Given the description of an element on the screen output the (x, y) to click on. 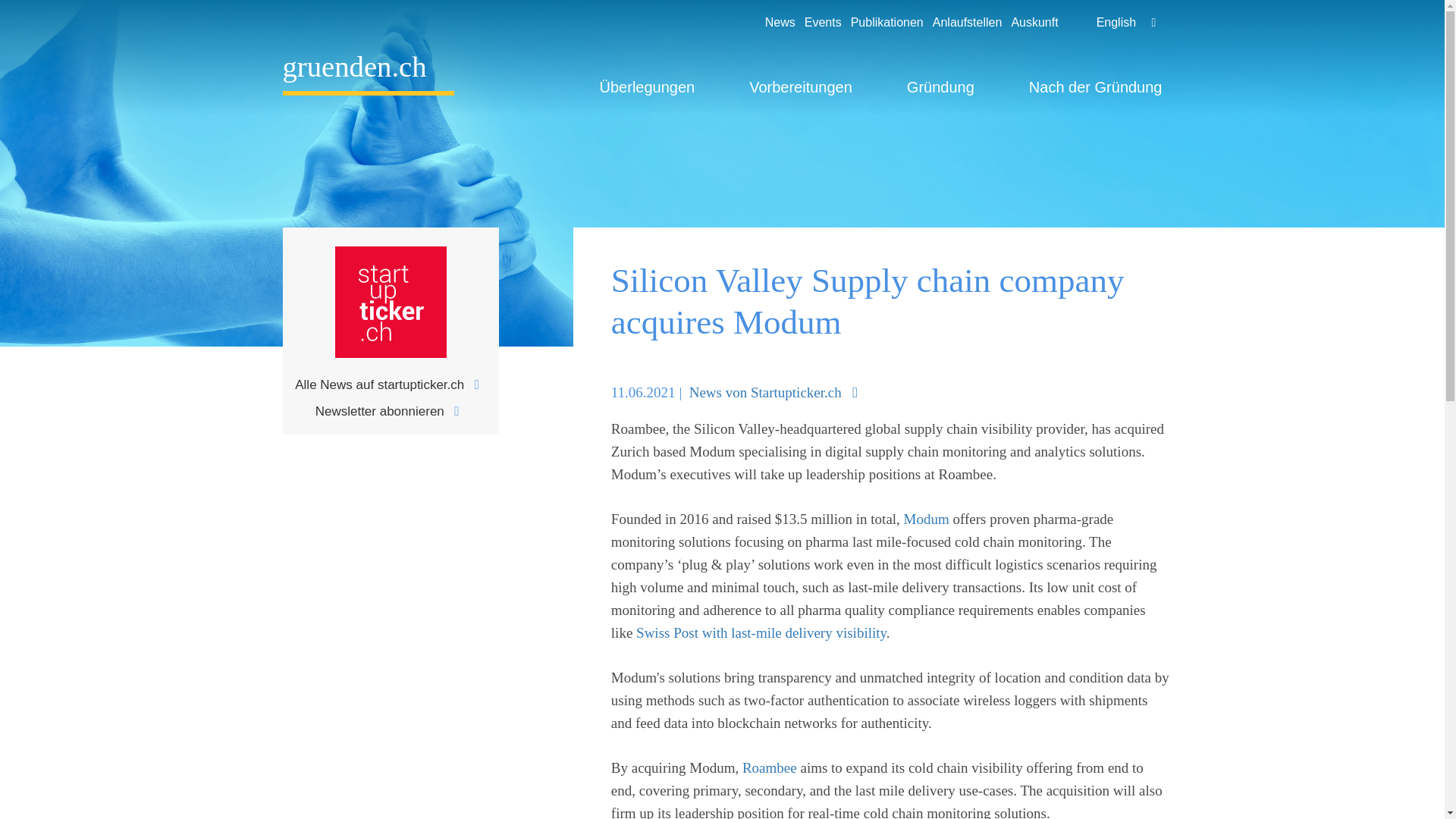
Events (817, 22)
Gruenden (367, 73)
Anlaufstellen (963, 22)
Alle News auf startupticker.ch (390, 384)
English (1096, 22)
gruenden.ch (367, 73)
Publikationen (882, 22)
Auskunft (1029, 22)
English Version (1096, 22)
Publikationen (882, 22)
